Given the description of an element on the screen output the (x, y) to click on. 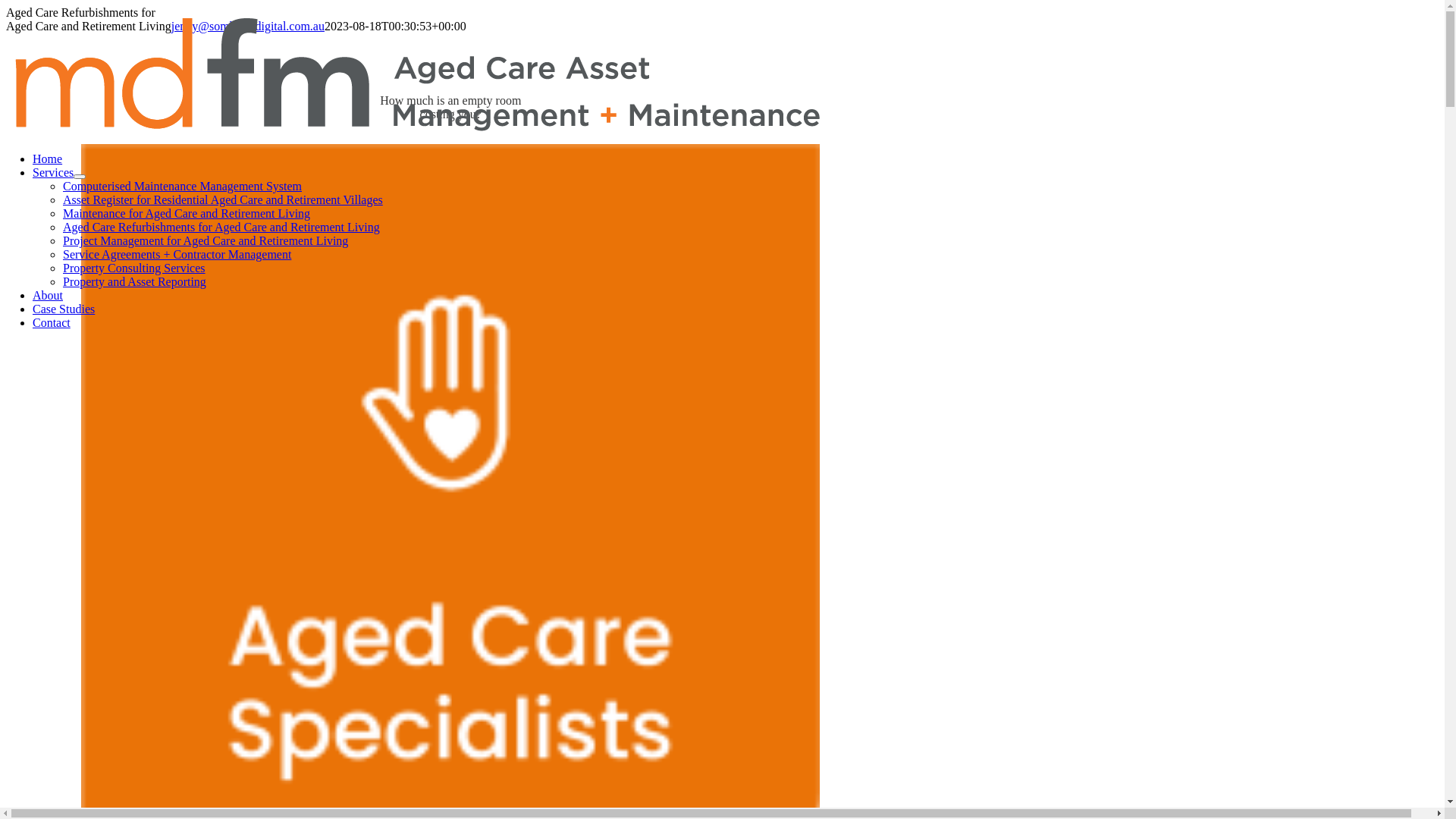
Aged Care Refurbishments for Aged Care and Retirement Living Element type: text (220, 226)
Skip to content Element type: text (5, 5)
About Element type: text (47, 294)
Home Element type: text (47, 158)
Property Consulting Services Element type: text (133, 267)
Property and Asset Reporting Element type: text (134, 281)
Maintenance for Aged Care and Retirement Living Element type: text (186, 213)
Contact Element type: text (51, 322)
Project Management for Aged Care and Retirement Living Element type: text (205, 240)
Services Element type: text (52, 172)
Computerised Maintenance Management System Element type: text (181, 185)
Service Agreements + Contractor Management Element type: text (176, 253)
jenny@sombrilladigital.com.au Element type: text (247, 25)
MDFM-logoArtboard 1 copy@3x Element type: hover (420, 71)
Case Studies Element type: text (63, 308)
